Given the description of an element on the screen output the (x, y) to click on. 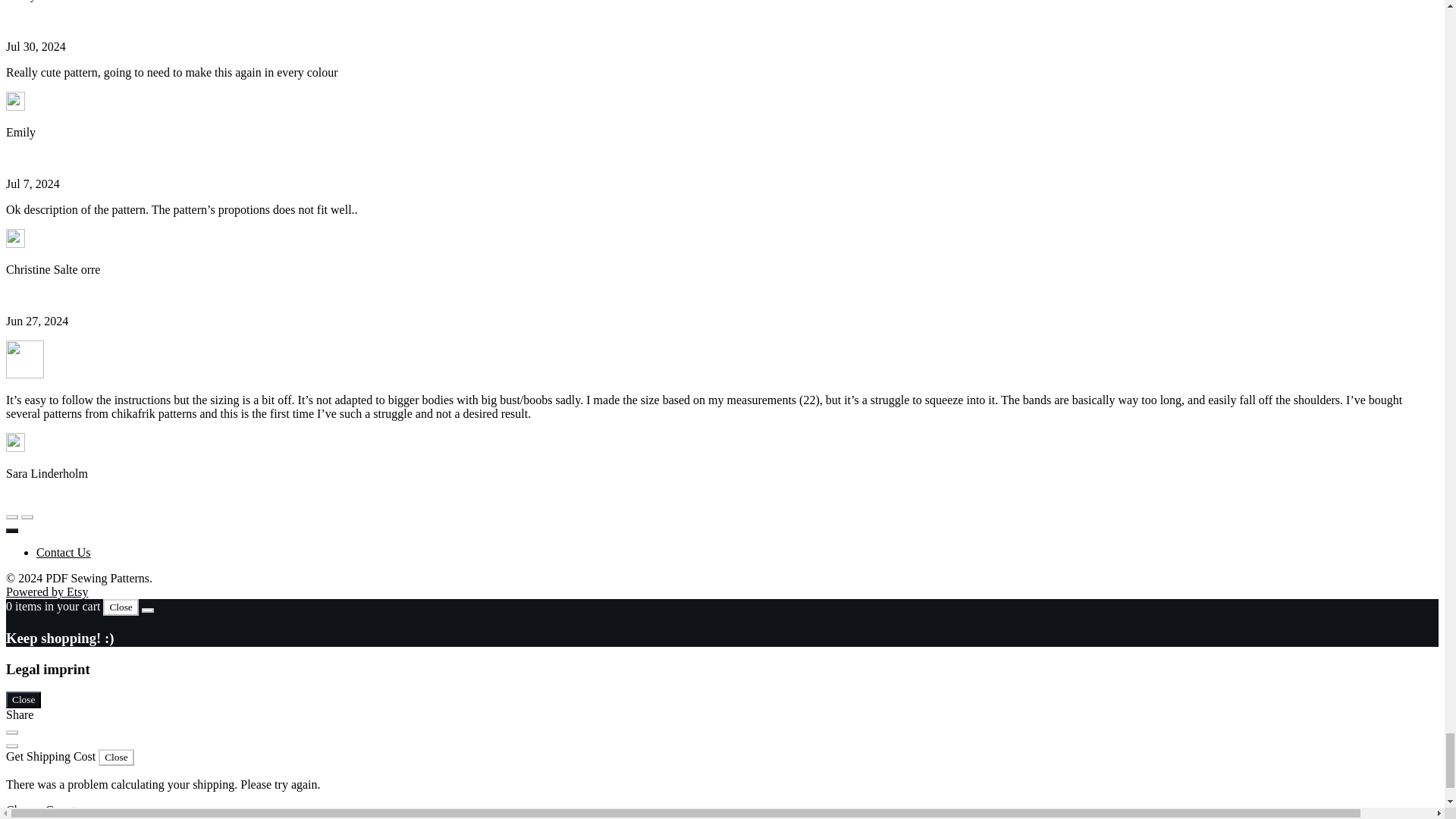
Close (120, 606)
Powered by Etsy (46, 591)
Contact Us (63, 552)
Close (22, 699)
Close (116, 757)
